Given the description of an element on the screen output the (x, y) to click on. 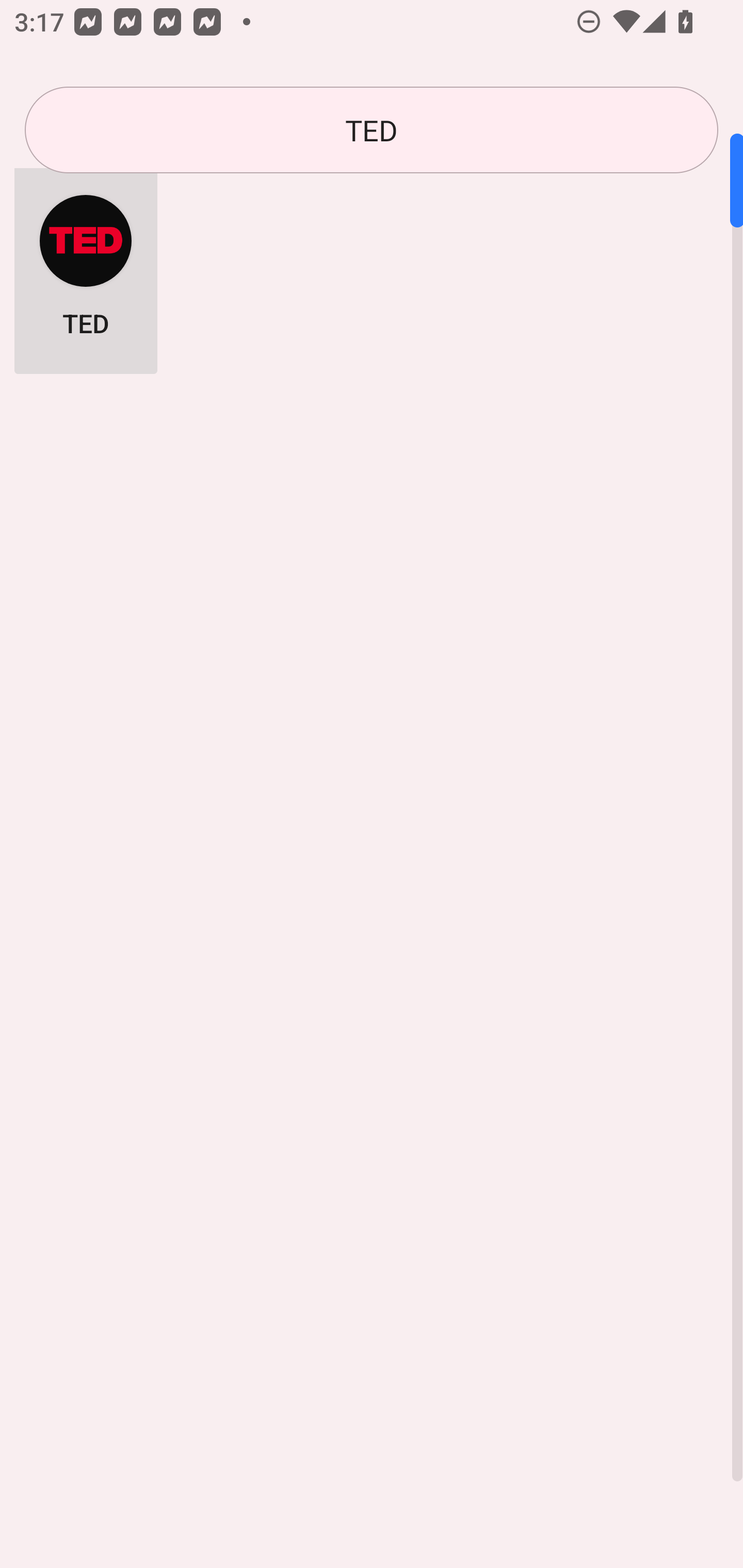
TED (371, 130)
TED (85, 264)
